Given the description of an element on the screen output the (x, y) to click on. 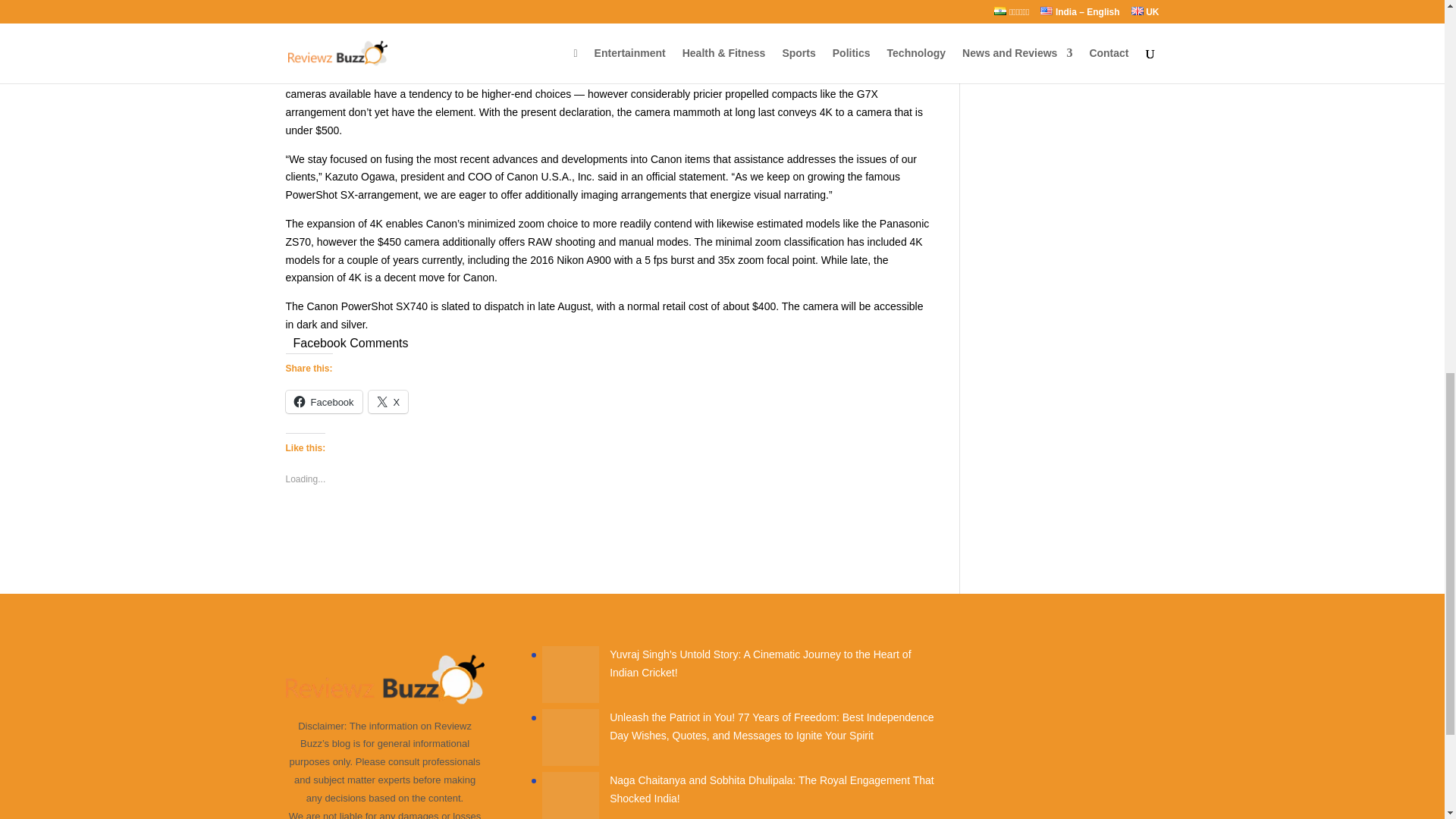
Facebook (323, 401)
Click to share on X (388, 401)
Click to share on Facebook (323, 401)
X (388, 401)
Travel (996, 33)
Technology News (1023, 9)
